Given the description of an element on the screen output the (x, y) to click on. 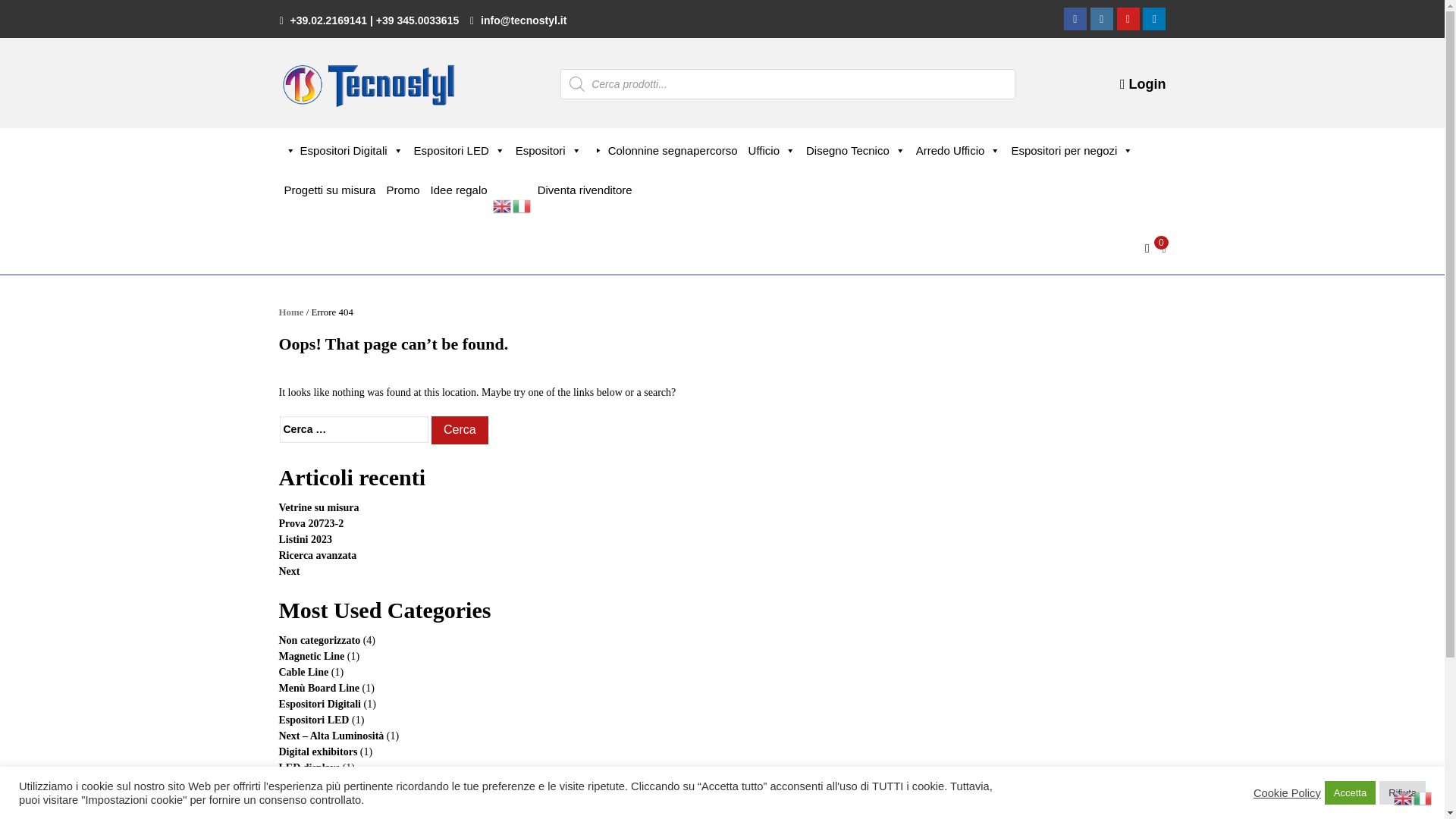
Cerca (458, 430)
Login (1142, 83)
English (1403, 797)
Italian (1422, 797)
Espositori (548, 150)
Instagram (1101, 18)
Cerca (458, 430)
Italian (522, 204)
Youtube (1128, 18)
Facebook (1075, 18)
English (502, 204)
Espositori LED (460, 150)
Espositori Digitali (344, 150)
Linkedin (1154, 18)
